Given the description of an element on the screen output the (x, y) to click on. 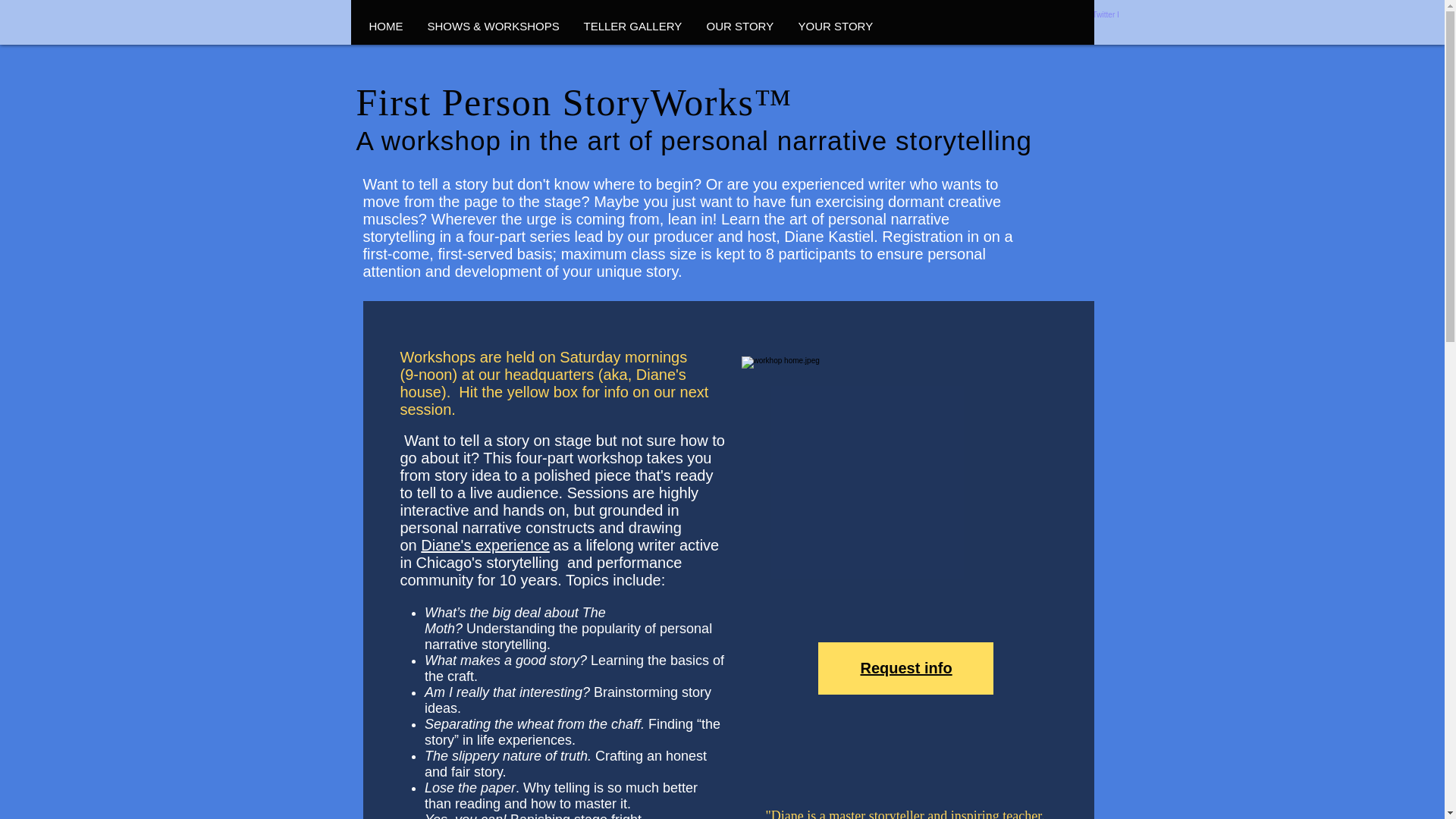
HOME (385, 26)
Diane's experience (484, 545)
TELLER GALLERY (633, 26)
YOUR STORY (835, 26)
OUR STORY (740, 26)
Request info (906, 668)
